Given the description of an element on the screen output the (x, y) to click on. 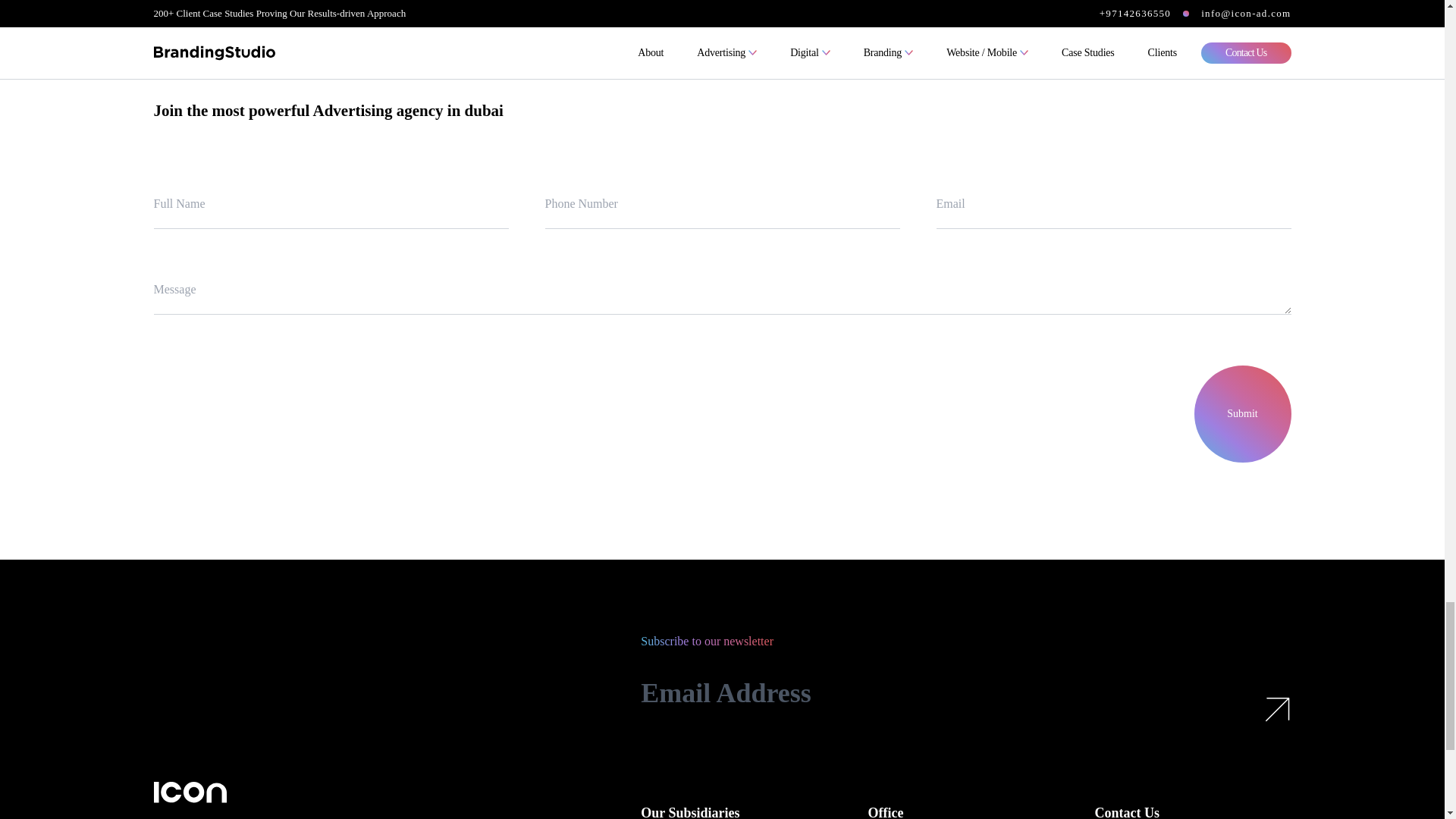
Submit (1241, 413)
Submit (1241, 413)
